Given the description of an element on the screen output the (x, y) to click on. 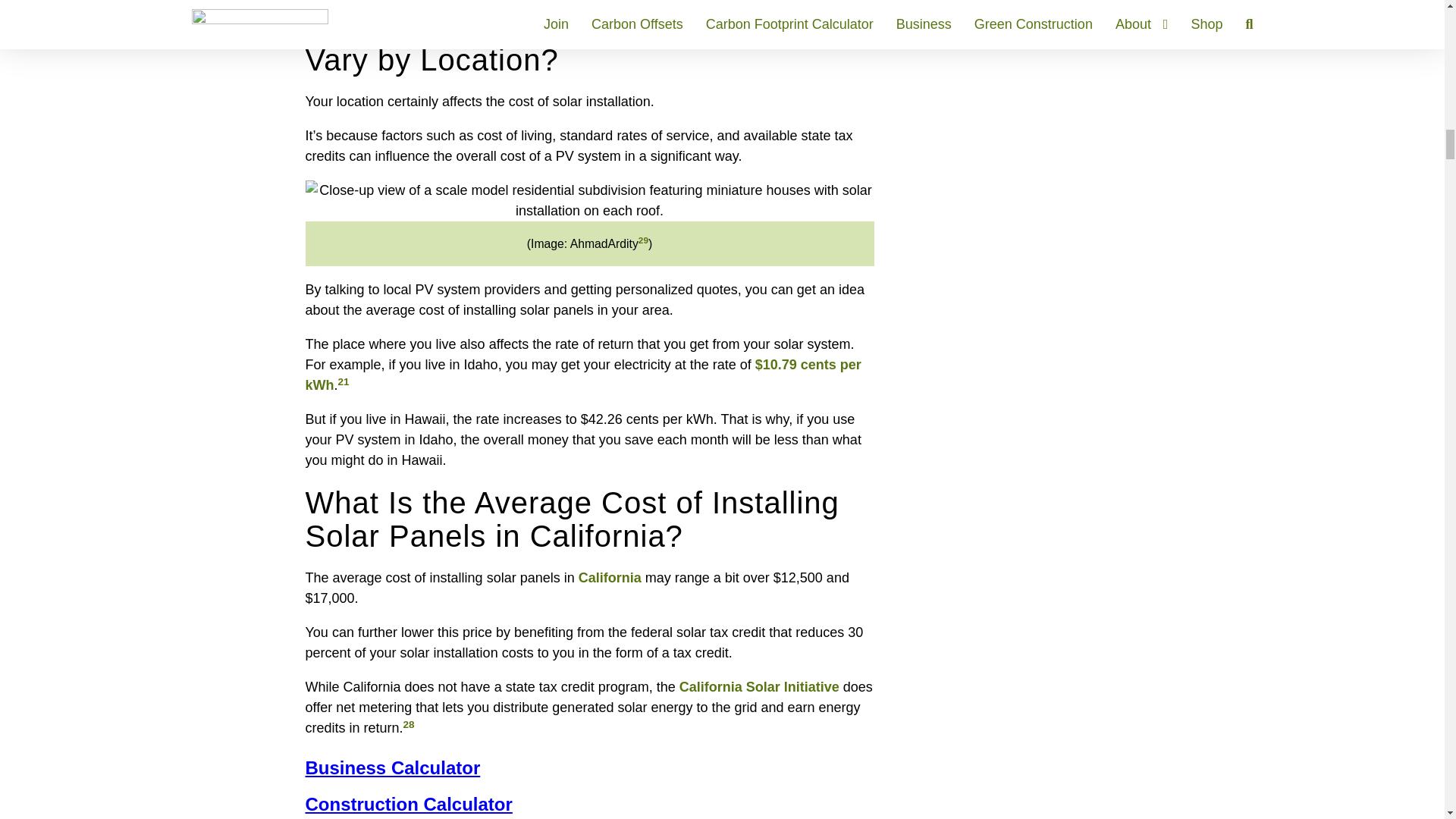
29 (643, 240)
Construction Calculator (588, 803)
28 (408, 724)
Business Calculator (588, 767)
California (610, 577)
California Solar Initiative (759, 686)
21 (343, 381)
